Given the description of an element on the screen output the (x, y) to click on. 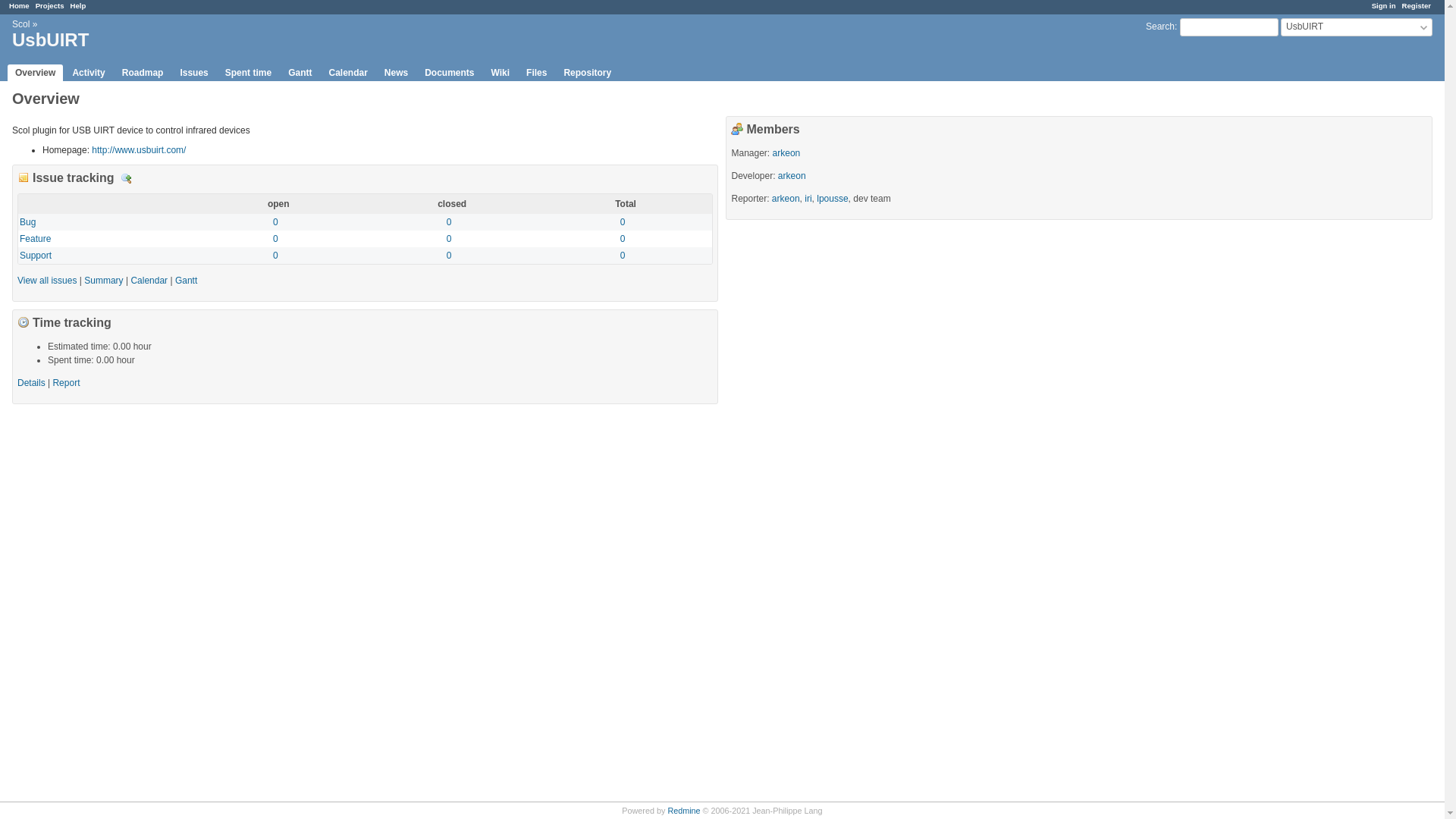
Calendar Element type: text (347, 72)
Calendar Element type: text (148, 280)
Scol Element type: text (20, 23)
0 Element type: text (448, 221)
View all issues Element type: text (46, 280)
0 Element type: text (448, 255)
Details Element type: text (126, 178)
0 Element type: text (275, 255)
0 Element type: text (622, 238)
0 Element type: text (448, 238)
Activity Element type: text (88, 72)
Feature Element type: text (34, 238)
Projects Element type: text (49, 5)
News Element type: text (395, 72)
iri Element type: text (807, 198)
http://www.usbuirt.com/ Element type: text (138, 149)
Report Element type: text (65, 382)
Help Element type: text (78, 5)
Wiki Element type: text (500, 72)
Gantt Element type: text (299, 72)
Roadmap Element type: text (142, 72)
Register Element type: text (1416, 5)
Summary Element type: text (103, 280)
arkeon Element type: text (792, 175)
0 Element type: text (275, 221)
lpousse Element type: text (831, 198)
Details Element type: text (31, 382)
Search Element type: text (1159, 26)
Repository Element type: text (586, 72)
arkeon Element type: text (786, 152)
Redmine Element type: text (683, 810)
0 Element type: text (622, 255)
0 Element type: text (275, 238)
Support Element type: text (35, 255)
Issues Element type: text (193, 72)
Overview Element type: text (34, 72)
arkeon Element type: text (785, 198)
Documents Element type: text (449, 72)
Bug Element type: text (27, 221)
Home Element type: text (19, 5)
Gantt Element type: text (186, 280)
Files Element type: text (536, 72)
Sign in Element type: text (1383, 5)
0 Element type: text (622, 221)
Spent time Element type: text (248, 72)
